Given the description of an element on the screen output the (x, y) to click on. 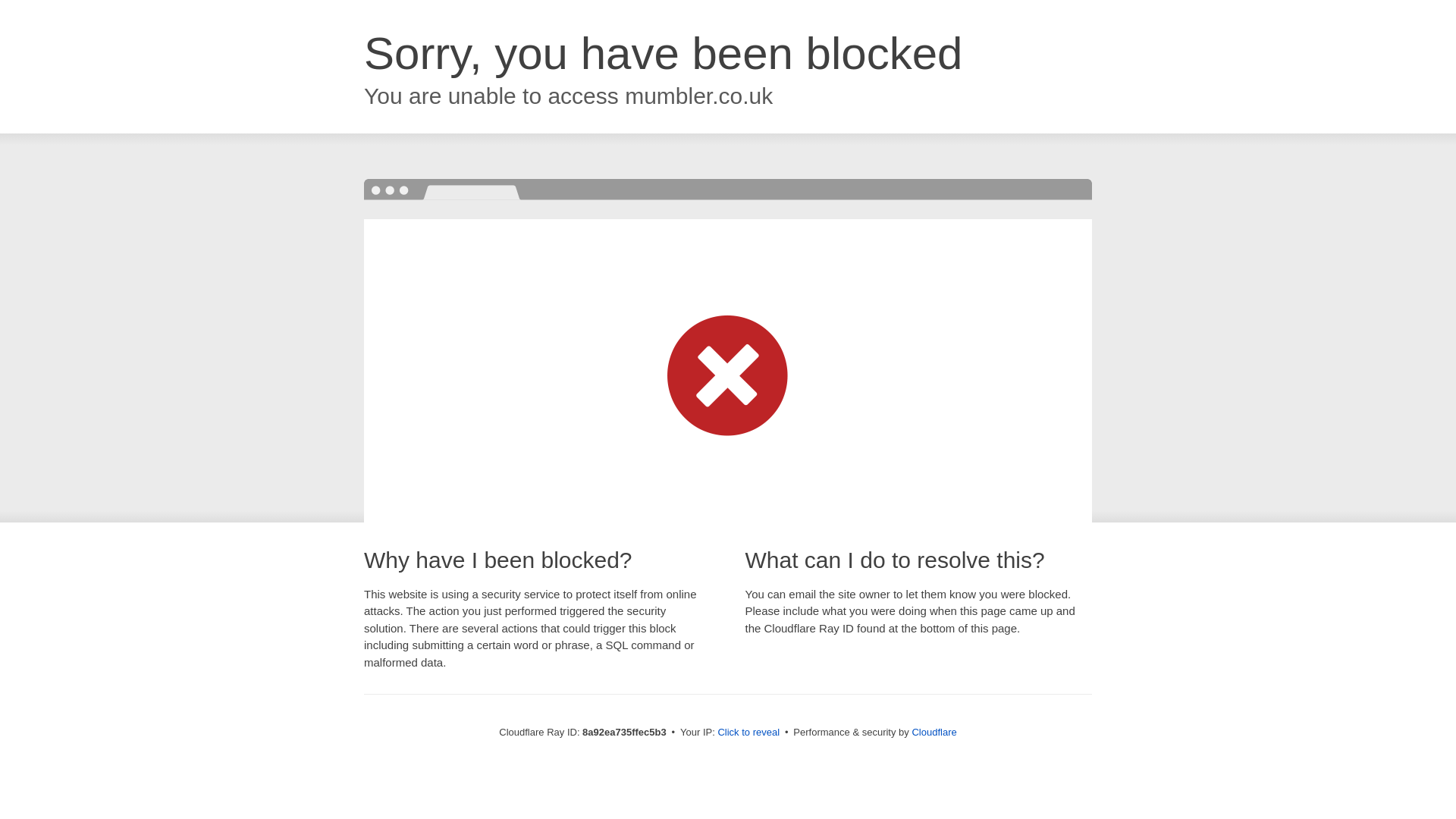
Cloudflare (933, 731)
Click to reveal (747, 732)
